Given the description of an element on the screen output the (x, y) to click on. 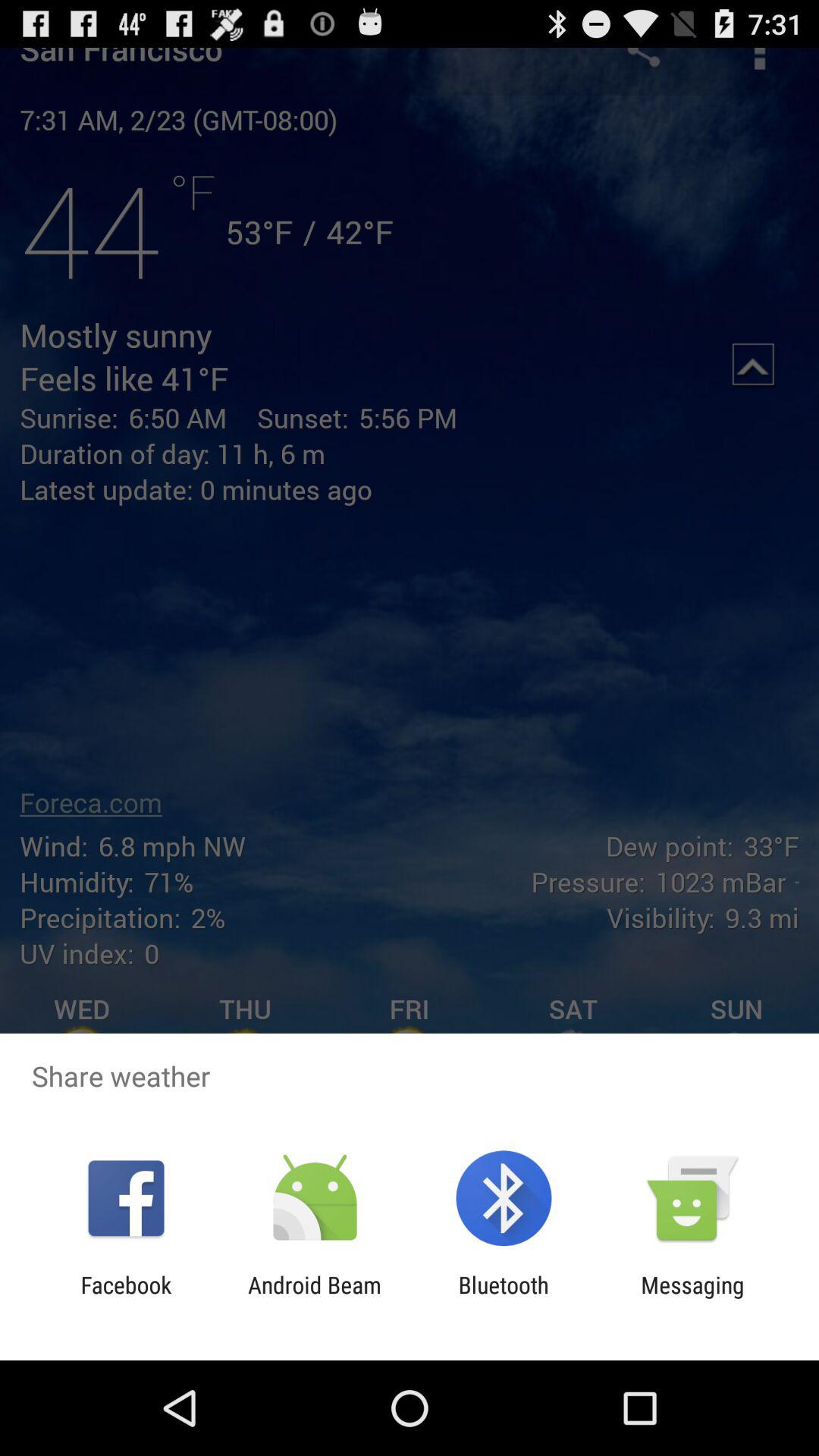
select the item next to the bluetooth app (314, 1298)
